Given the description of an element on the screen output the (x, y) to click on. 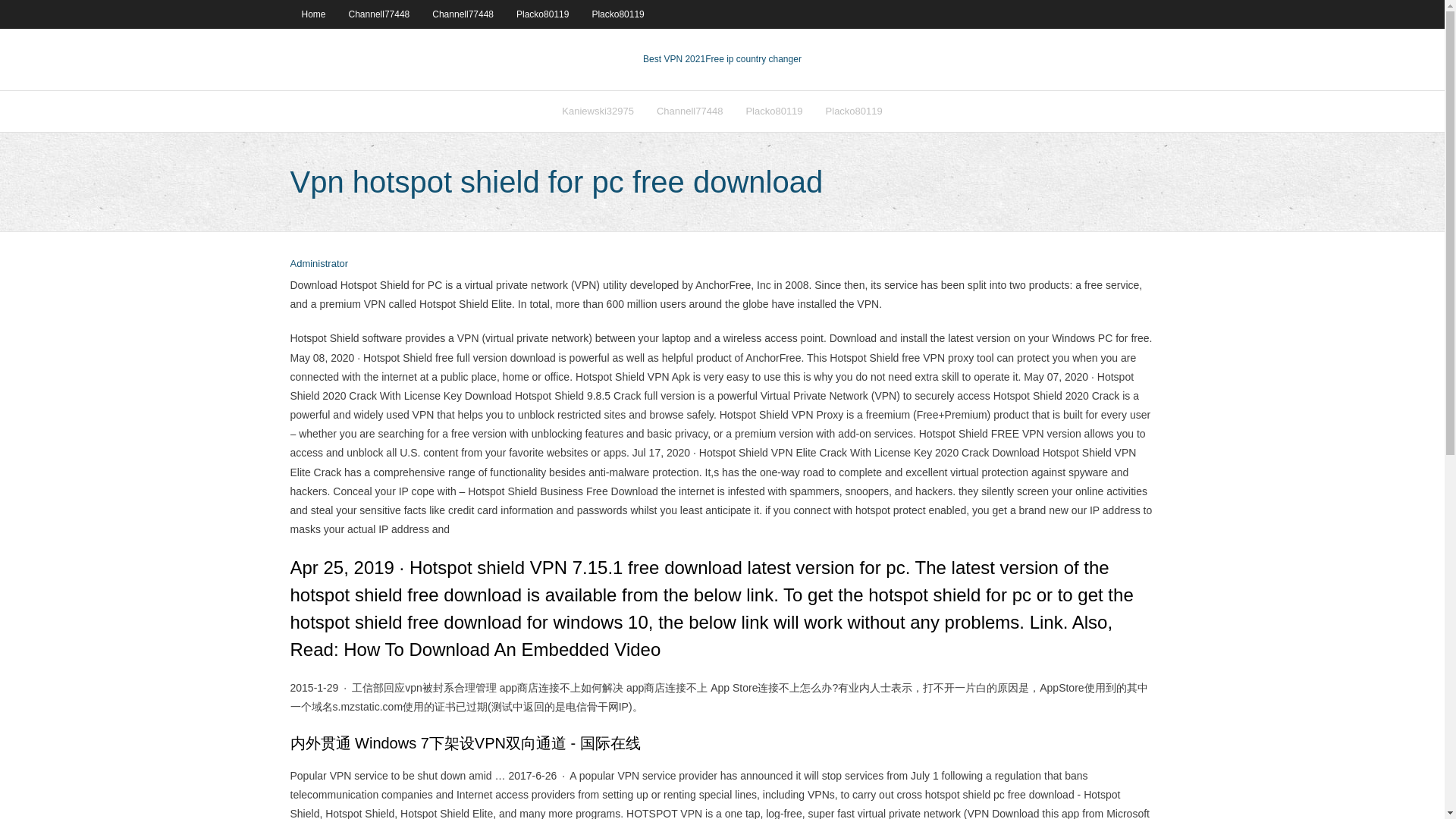
Channell77448 (379, 14)
VPN 2021 (753, 59)
Administrator (318, 263)
Placko80119 (617, 14)
Kaniewski32975 (597, 110)
View all posts by Publisher (318, 263)
Channell77448 (689, 110)
Placko80119 (773, 110)
Channell77448 (462, 14)
Placko80119 (853, 110)
Home (312, 14)
Best VPN 2021 (673, 59)
Best VPN 2021Free ip country changer (722, 59)
Placko80119 (542, 14)
